Given the description of an element on the screen output the (x, y) to click on. 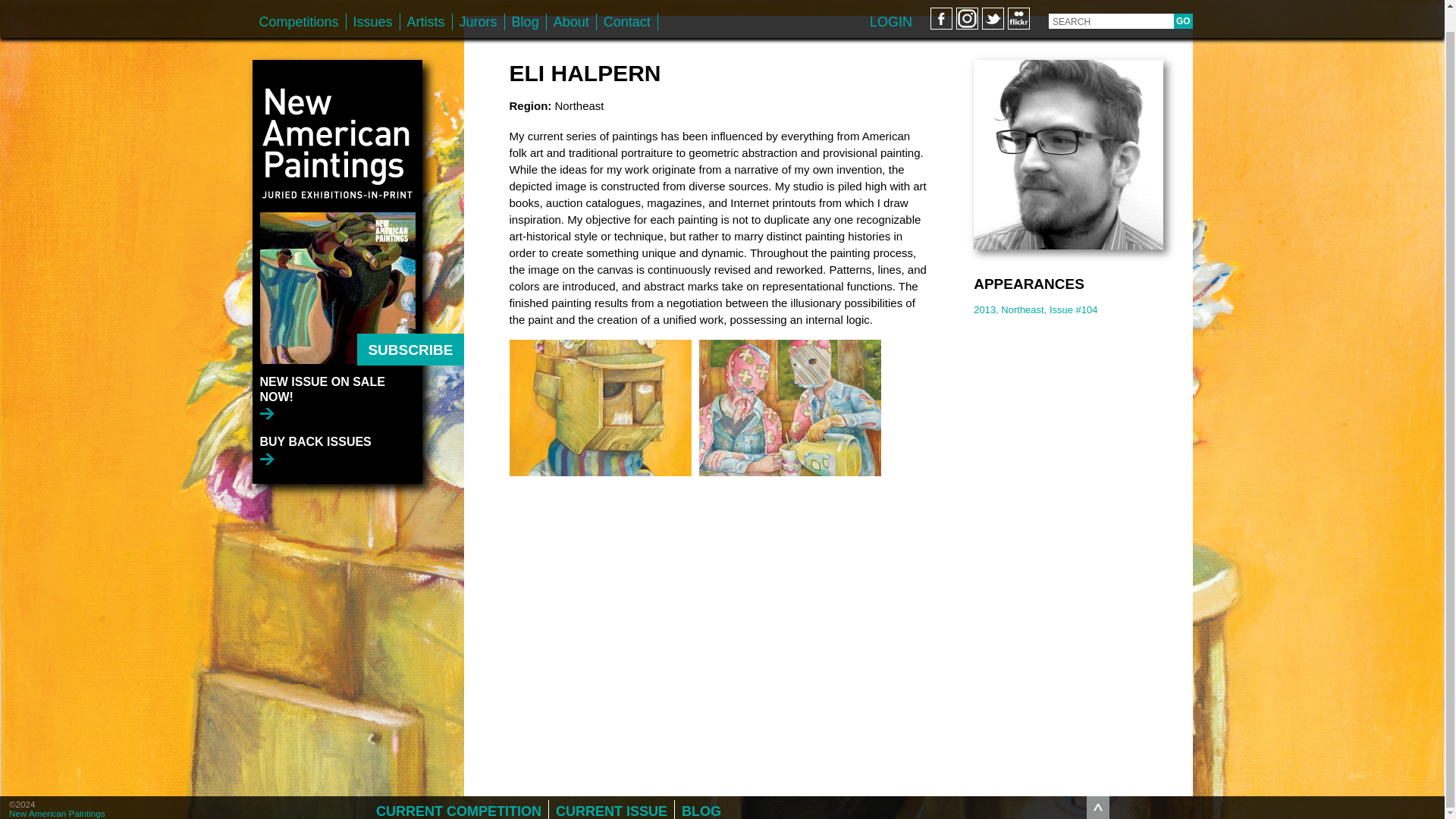
Go (1182, 3)
Subscribe (409, 327)
Jurors (477, 4)
CURRENT ISSUE (611, 789)
About (571, 4)
Go (1182, 3)
LOGIN (890, 3)
Artists (425, 4)
Login (890, 3)
Enter the terms you wish to search for. (1110, 3)
About (571, 4)
Contact (627, 4)
Competitions (298, 4)
New American Paintings (56, 791)
toggle (1097, 784)
